Given the description of an element on the screen output the (x, y) to click on. 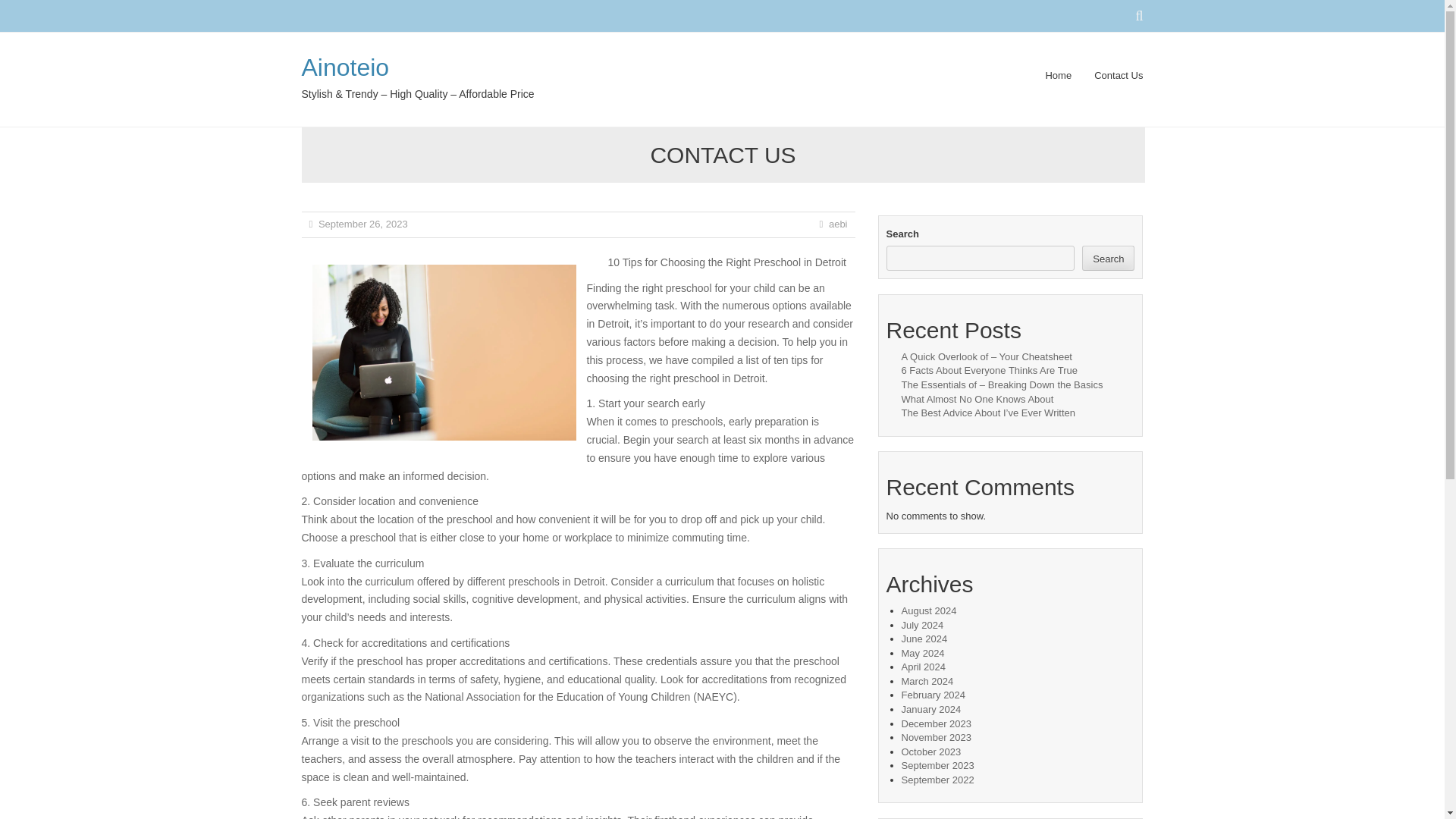
September 2023 (937, 765)
May 2024 (922, 653)
December 2023 (936, 723)
January 2024 (930, 708)
6 Facts About Everyone Thinks Are True (989, 369)
February 2024 (933, 695)
What Almost No One Knows About (976, 398)
September 2022 (937, 779)
aebi (837, 224)
October 2023 (930, 751)
